Given the description of an element on the screen output the (x, y) to click on. 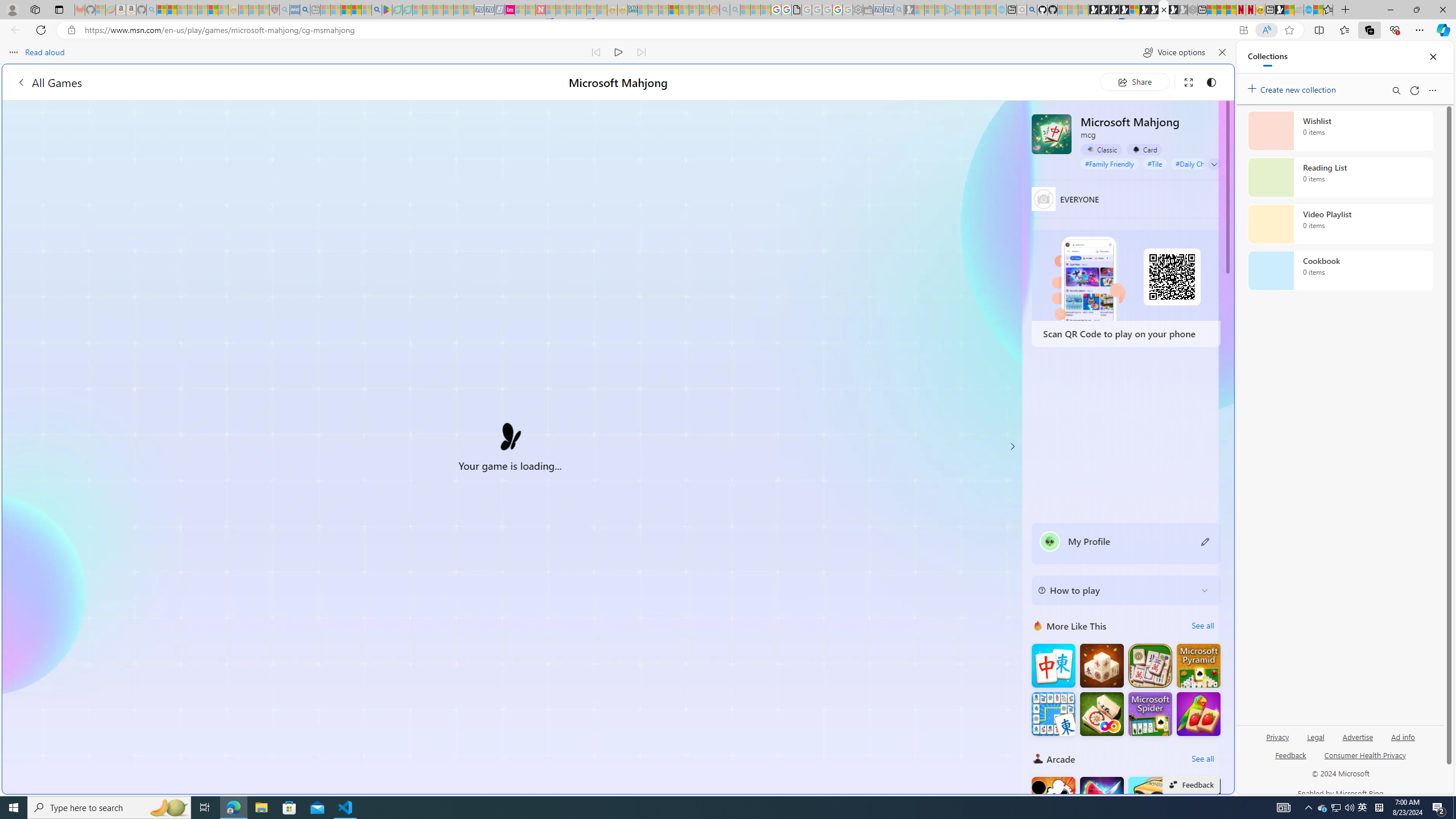
Close tab (1163, 9)
Sign in to your account (1134, 9)
Tab actions menu (58, 9)
Trusted Community Engagement and Contributions | Guidelines (550, 9)
Video Playlist collection, 0 items (1339, 223)
Expert Portfolios (673, 9)
Split screen (1318, 29)
The Weather Channel - MSN - Sleeping (181, 9)
Favorites (922, 683)
Microsoft account | Privacy - Sleeping (939, 9)
Ad info (1402, 741)
Home | Sky Blue Bikes - Sky Blue Bikes (1118, 242)
